Given the description of an element on the screen output the (x, y) to click on. 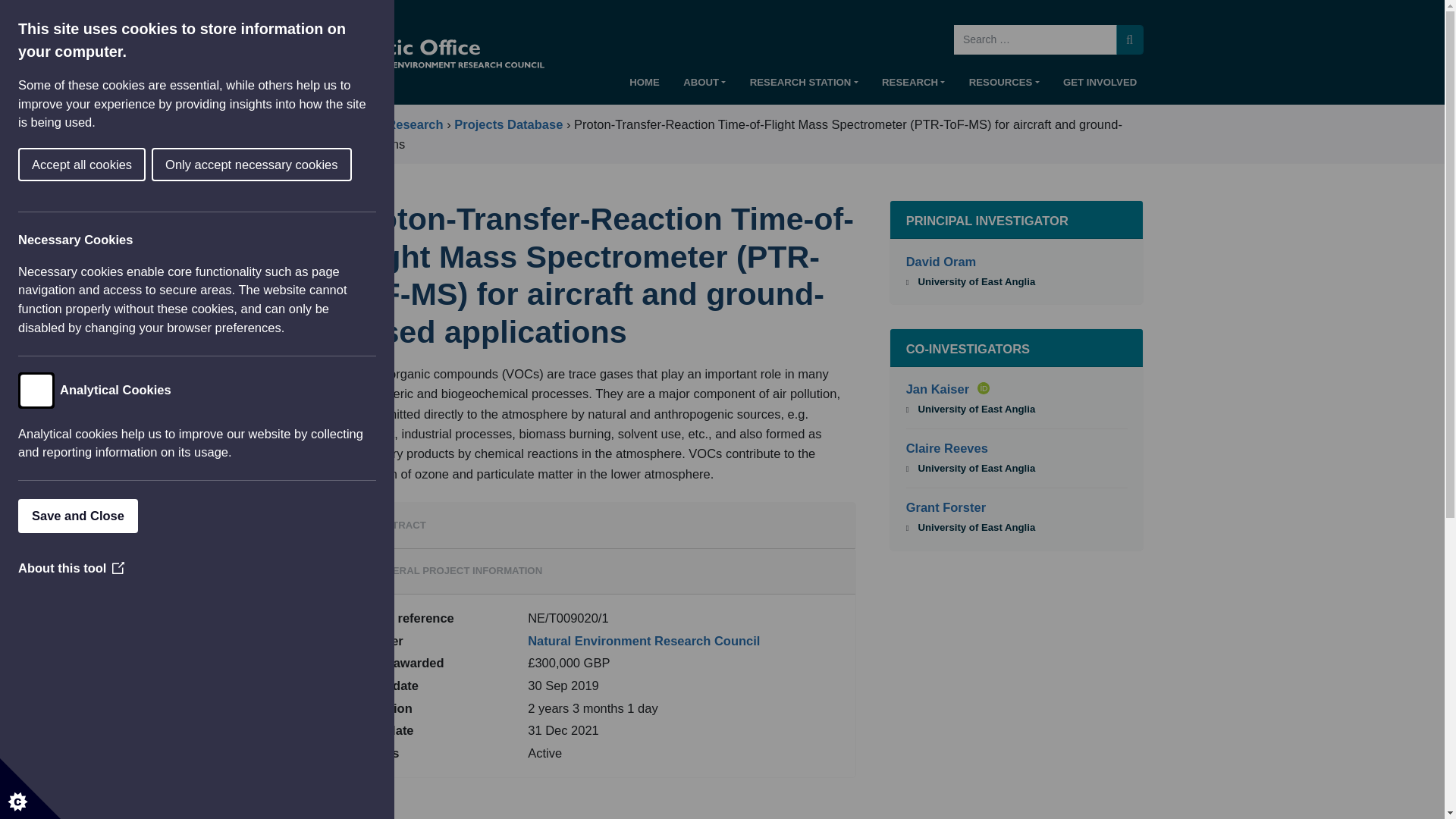
SUBMIT (1129, 39)
Only accept necessary cookies (91, 164)
ABOUT (704, 85)
RESEARCH (914, 85)
RESEARCH STATION (804, 85)
RESOURCES (1003, 85)
HOME (644, 85)
Search for: (1034, 39)
